Given the description of an element on the screen output the (x, y) to click on. 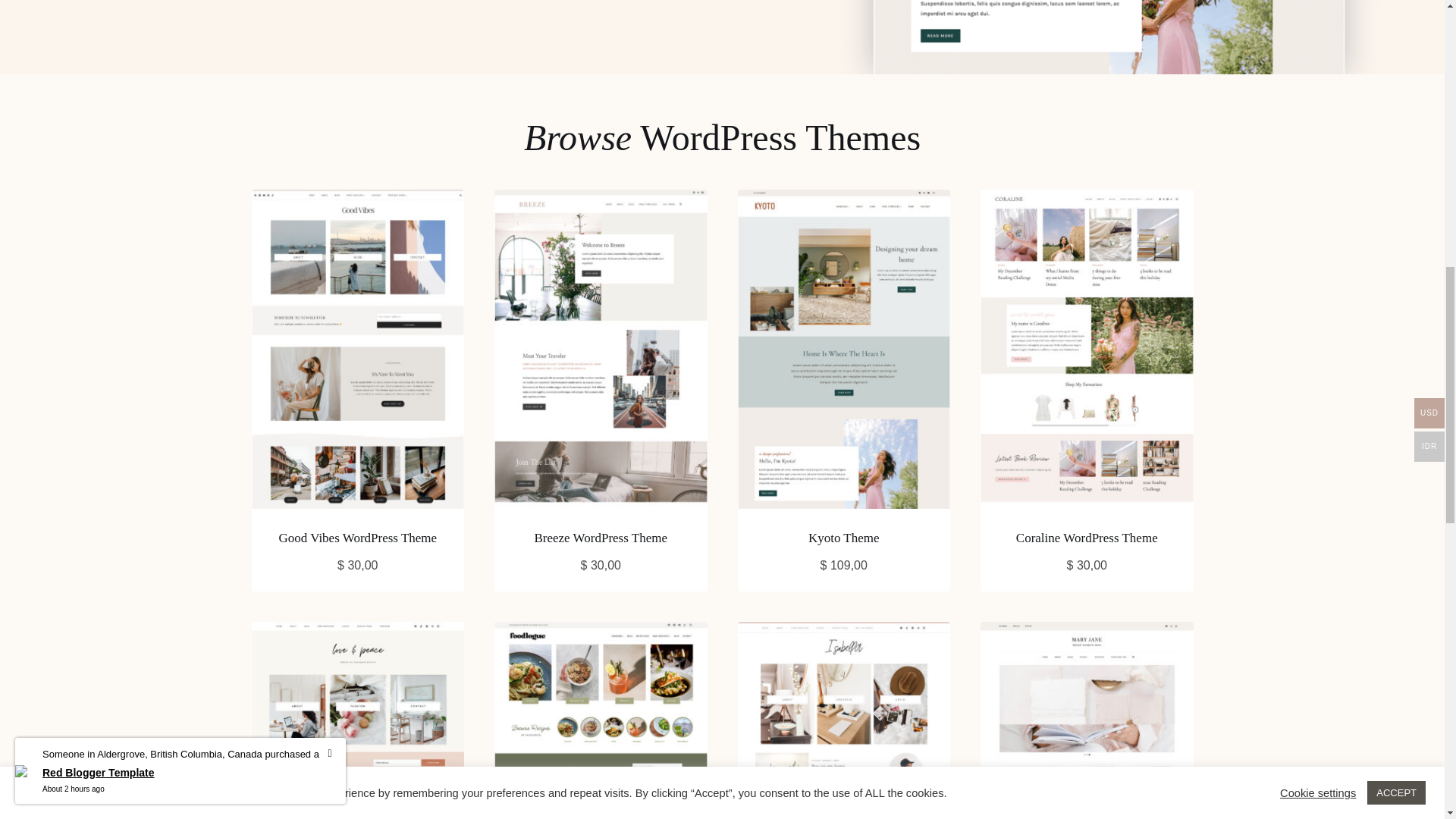
Good Vibes WordPress Theme (357, 538)
Coraline WordPress Theme (1086, 538)
Breeze WordPress Theme (601, 538)
Kyoto Theme (843, 538)
